Given the description of an element on the screen output the (x, y) to click on. 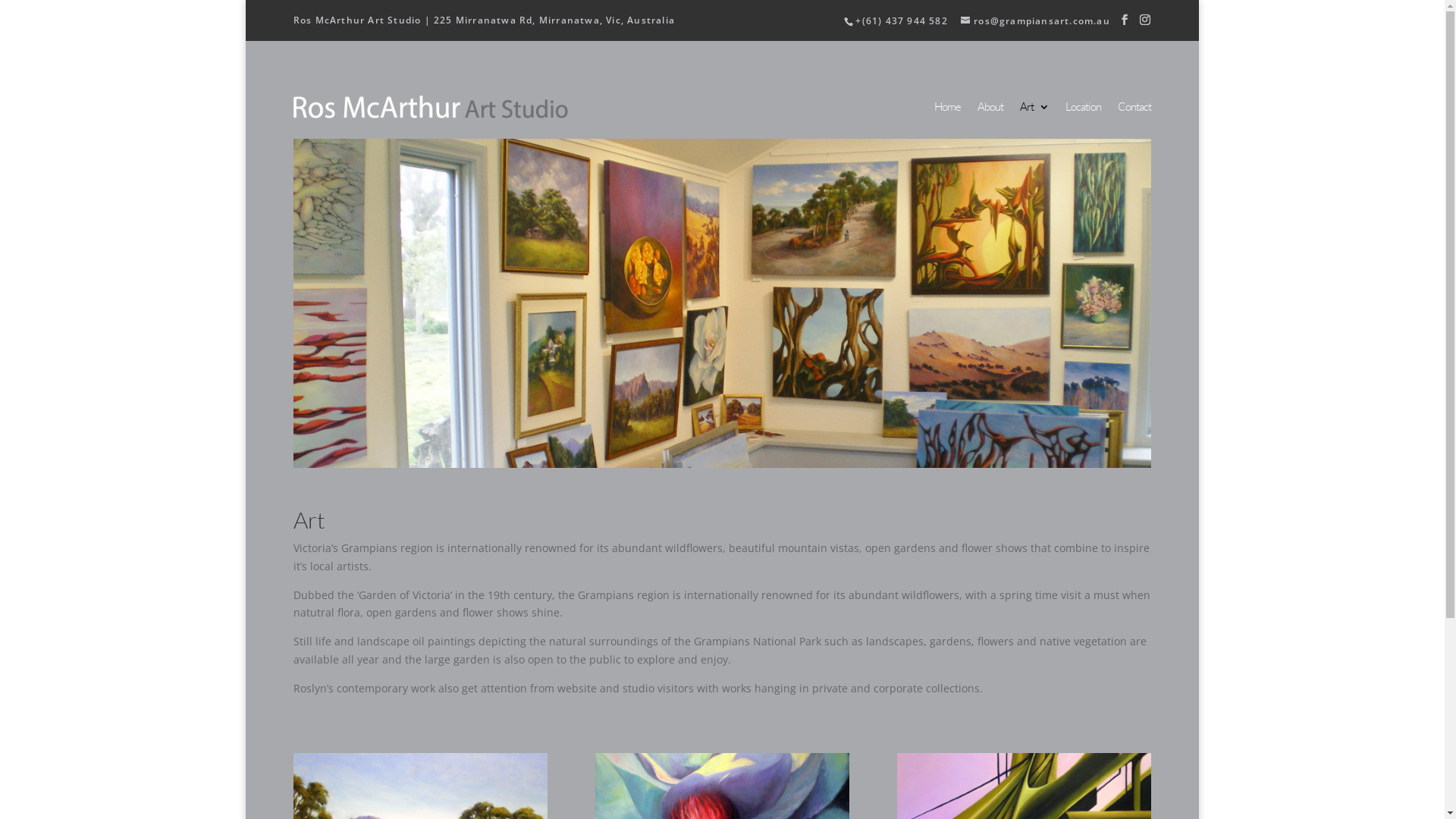
Location Element type: text (1083, 114)
Home Element type: text (947, 114)
ros@grampiansart.com.au Element type: text (1035, 20)
Contact Element type: text (1134, 114)
About Element type: text (990, 114)
Art Element type: text (1033, 114)
Grampians Art Element type: hover (722, 299)
